Given the description of an element on the screen output the (x, y) to click on. 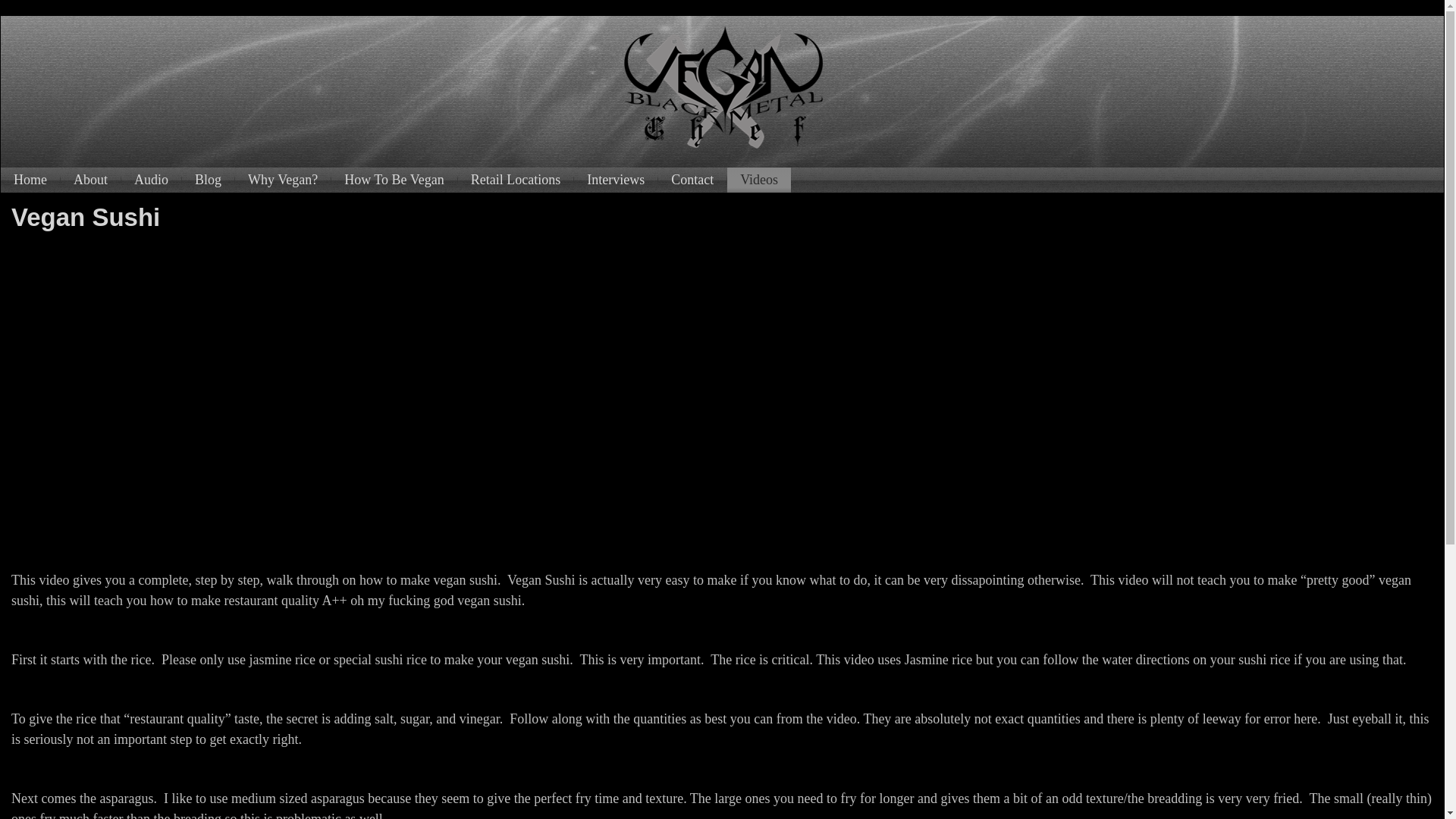
How To Be Vegan (394, 179)
Blog (208, 179)
Videos (758, 179)
About (90, 179)
Contact (692, 179)
Audio (150, 179)
Audio (150, 179)
Retail Locations (515, 179)
Retail Locations (515, 179)
Home (30, 179)
About (90, 179)
Home (30, 179)
How To Be Vegan (394, 179)
Interviews (615, 179)
Interviews (615, 179)
